Given the description of an element on the screen output the (x, y) to click on. 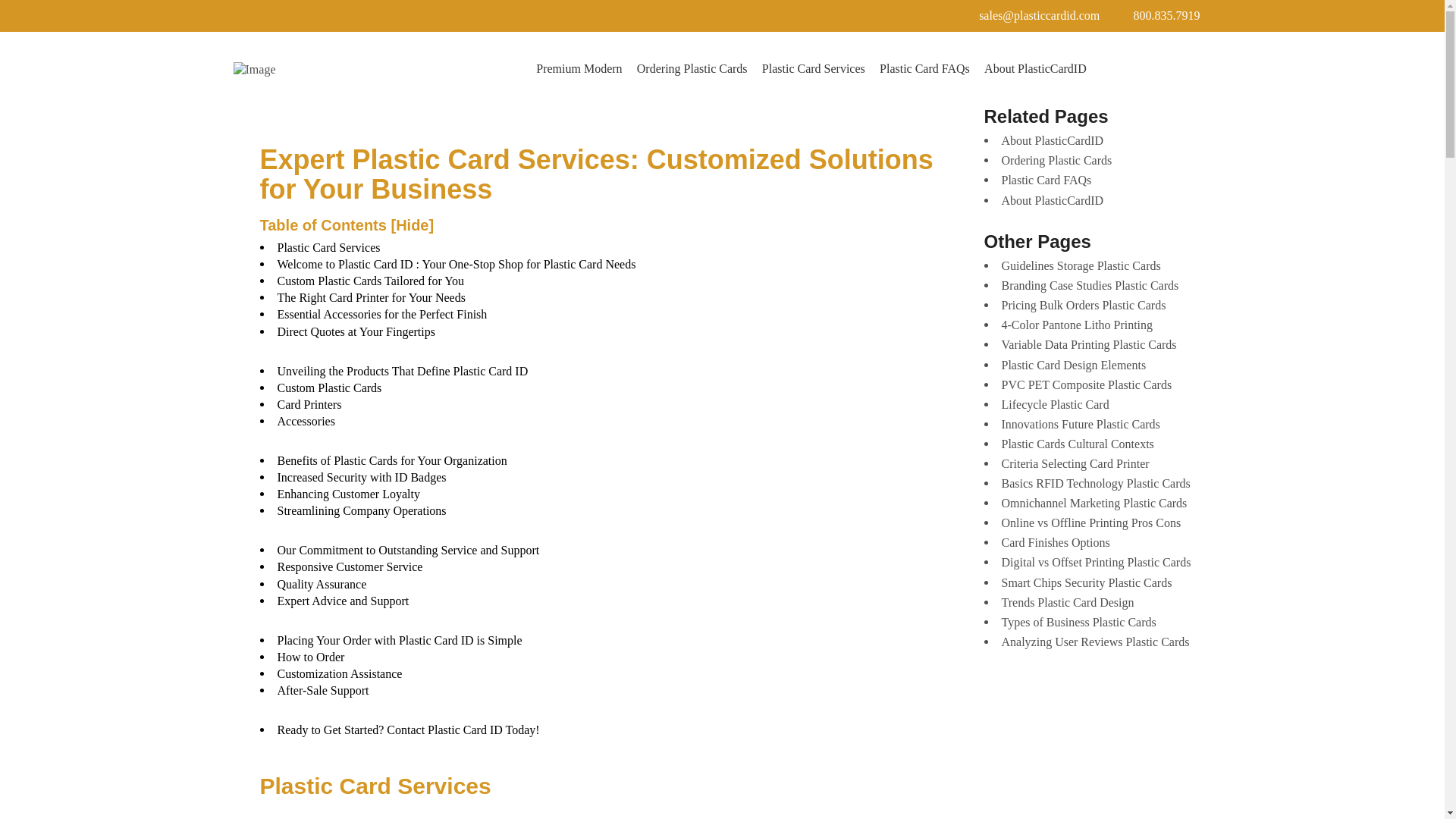
Enhancing Customer Loyalty (349, 493)
800.835.7919 (1162, 15)
Ready to Get Started? Contact Plastic Card ID Today! (409, 729)
Custom Plastic Cards (329, 387)
Ordering Plastic Cards (692, 69)
Unveiling the Products That Define Plastic Card ID (403, 370)
About PlasticCardID (1035, 69)
Plastic Card FAQs (924, 69)
How to Order (311, 656)
Quality Assurance (322, 584)
Responsive Customer Service (350, 566)
Increased Security with ID Badges (362, 477)
Accessories (306, 420)
Card Printers (310, 404)
